Given the description of an element on the screen output the (x, y) to click on. 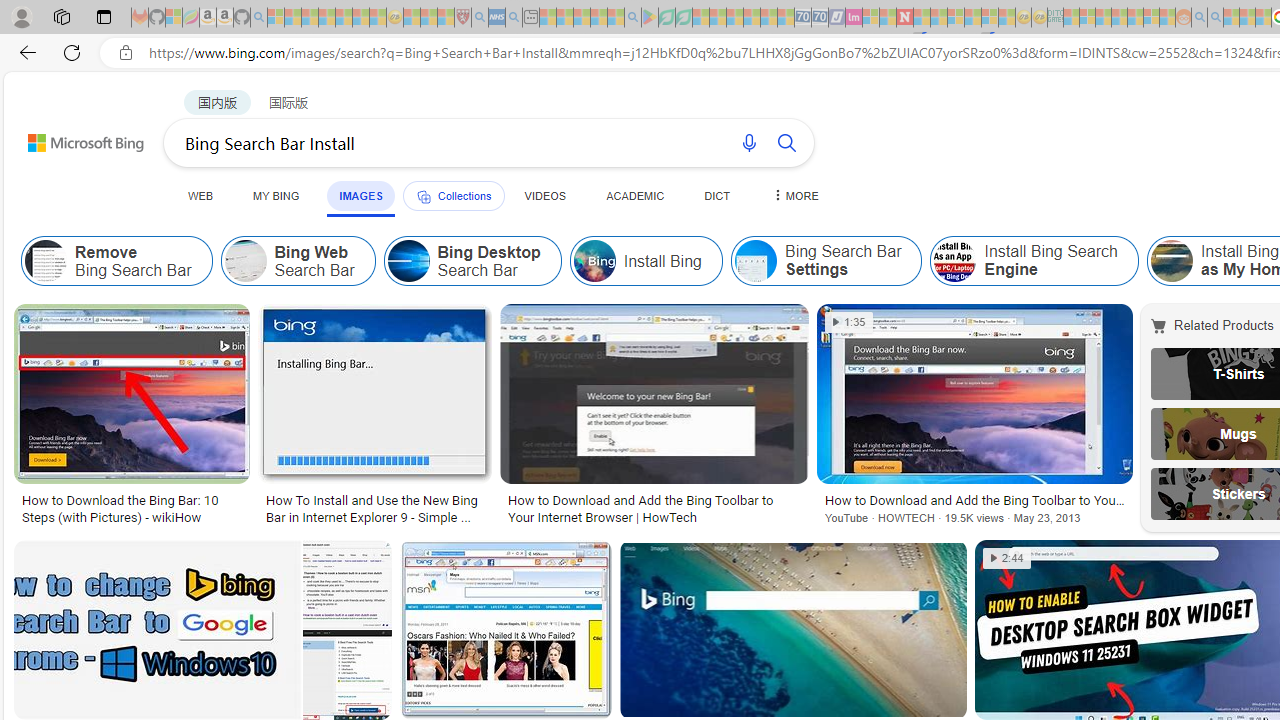
Install Bing Search Engine (1033, 260)
Bing Search Bar Settings (754, 260)
DITOGAMES AG Imprint - Sleeping (1055, 17)
